Given the description of an element on the screen output the (x, y) to click on. 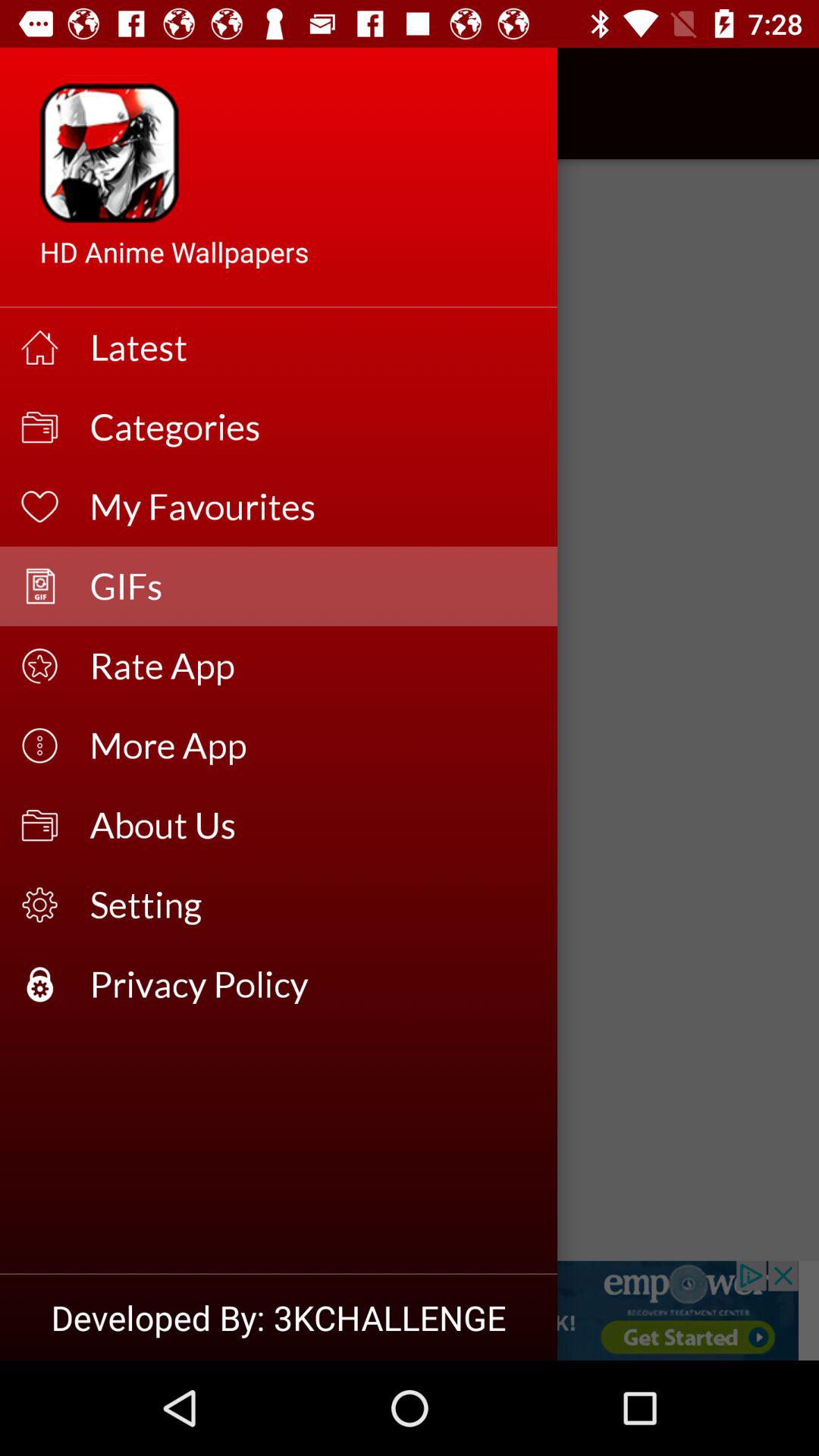
launch item above the hd anime wallpapers (55, 103)
